Given the description of an element on the screen output the (x, y) to click on. 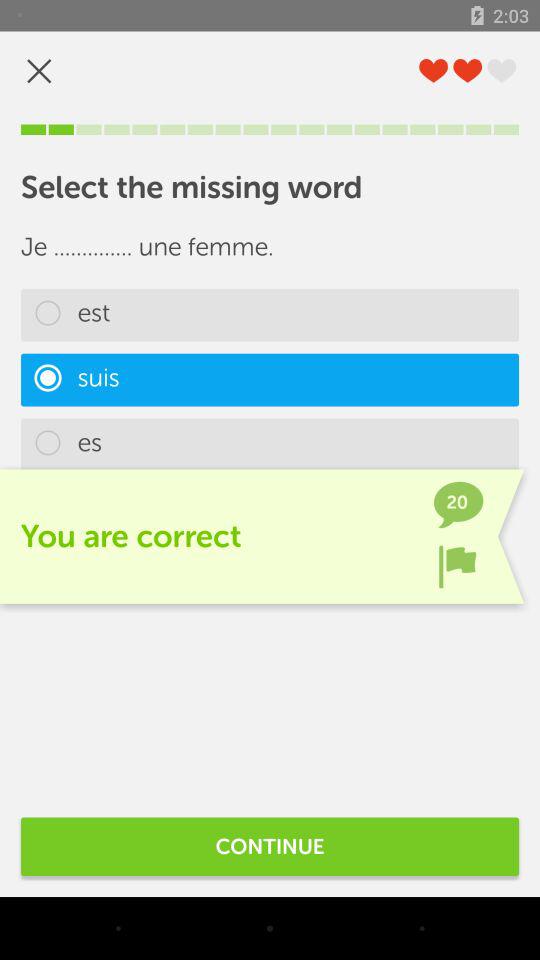
jump to est (270, 314)
